Given the description of an element on the screen output the (x, y) to click on. 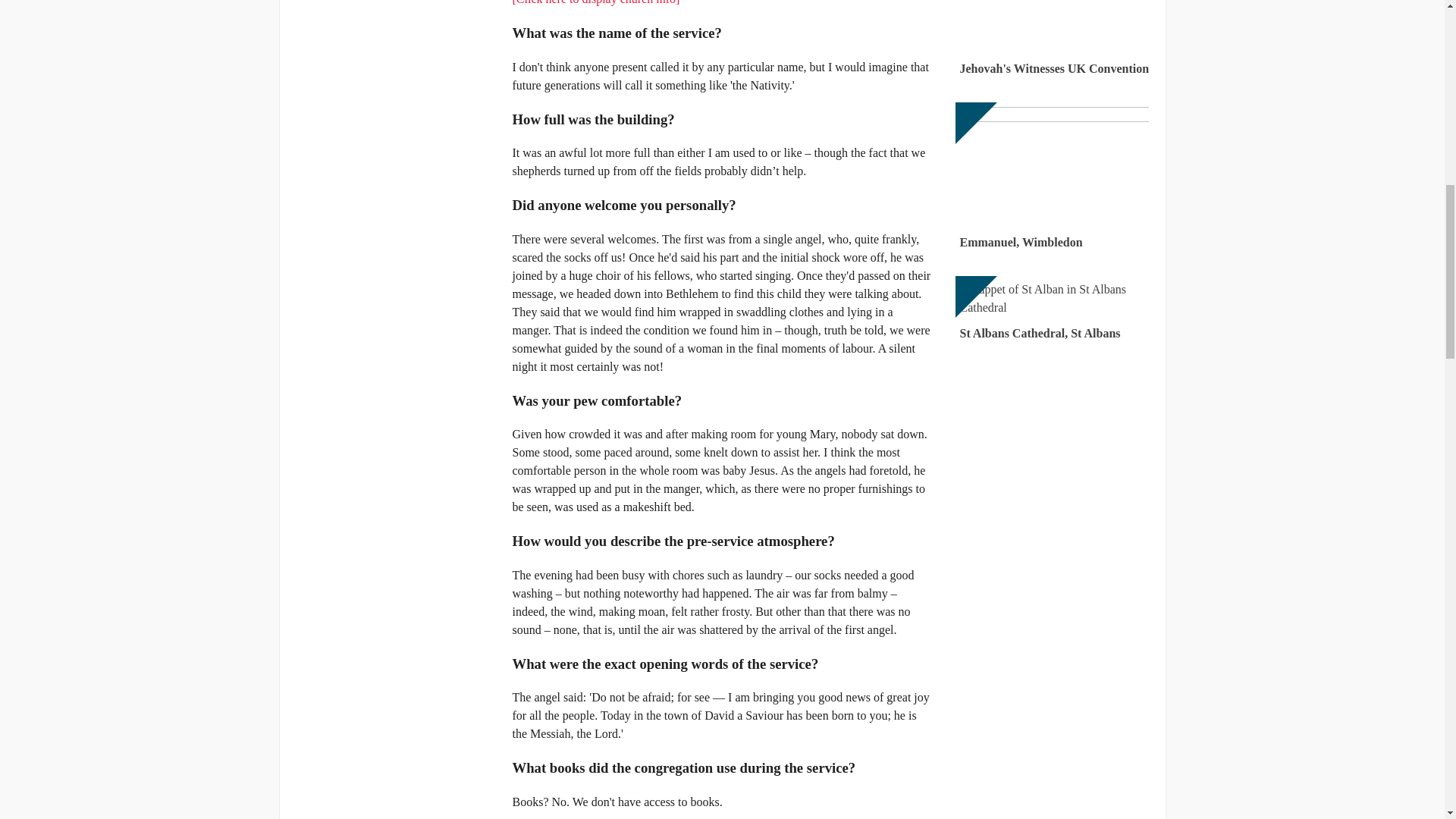
Jehovah's Witnesses UK Convention (1054, 41)
St Albans Cathedral, St Albans (1054, 311)
Emmanuel, Wimbledon (1054, 179)
